Given the description of an element on the screen output the (x, y) to click on. 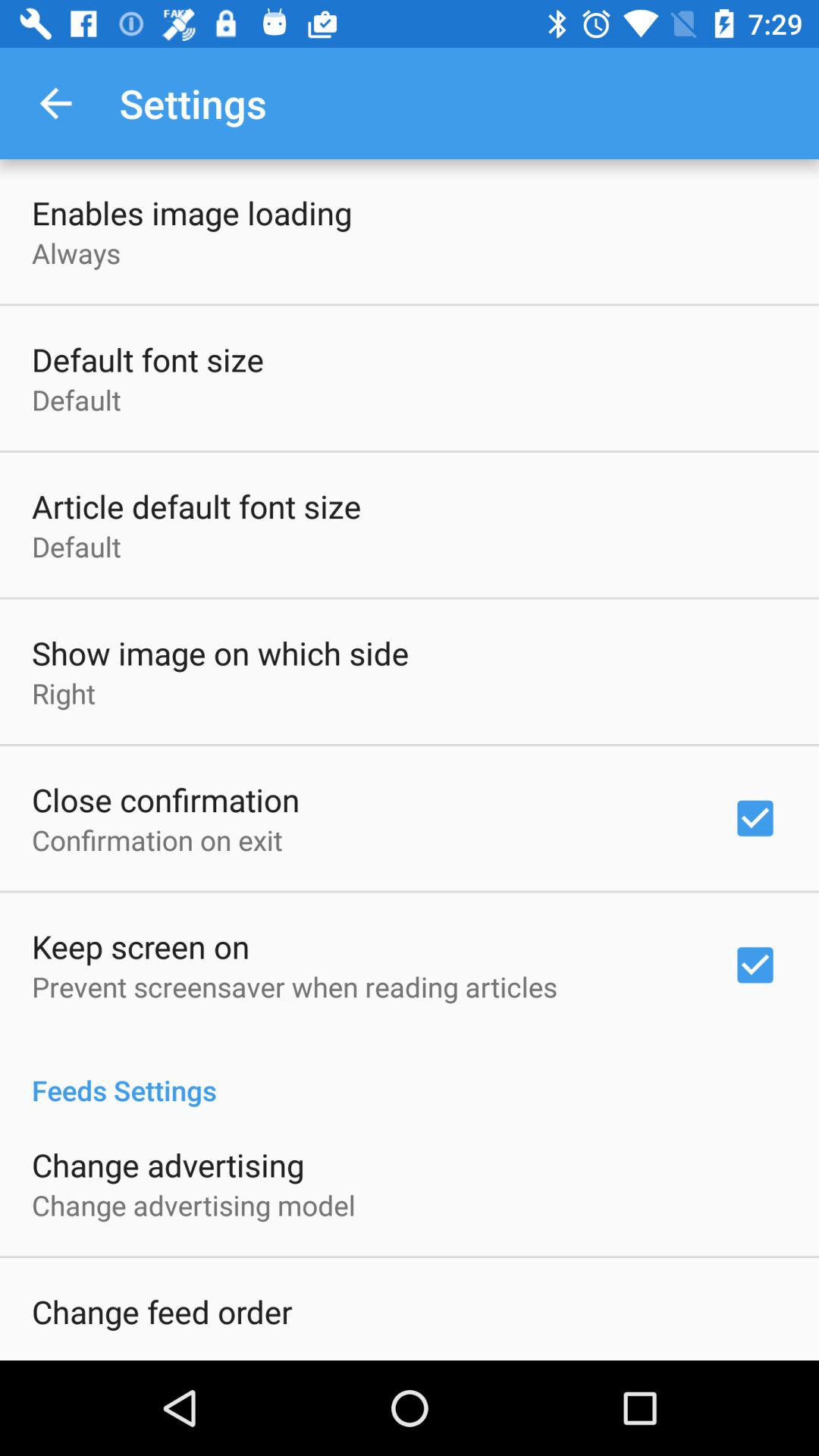
press icon to the left of the settings item (55, 103)
